Given the description of an element on the screen output the (x, y) to click on. 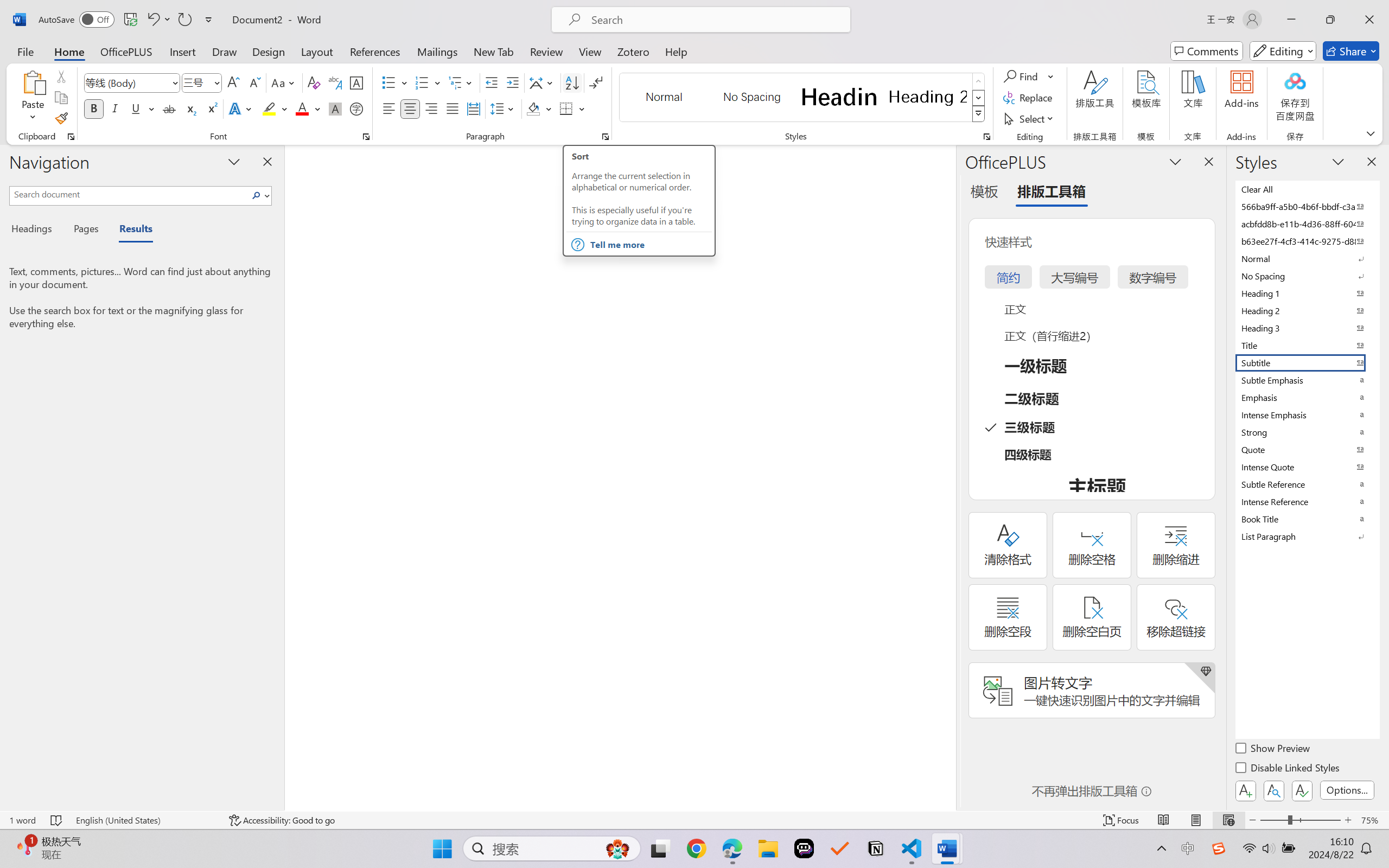
AutomationID: DynamicSearchBoxGleamImage (617, 848)
Class: NetUIImage (978, 114)
Zoom Out (1273, 819)
Intense Reference (1306, 501)
b63ee27f-4cf3-414c-9275-d88e3f90795e (1306, 240)
Layout (316, 51)
Format Painter (60, 118)
Row Down (978, 97)
